Given the description of an element on the screen output the (x, y) to click on. 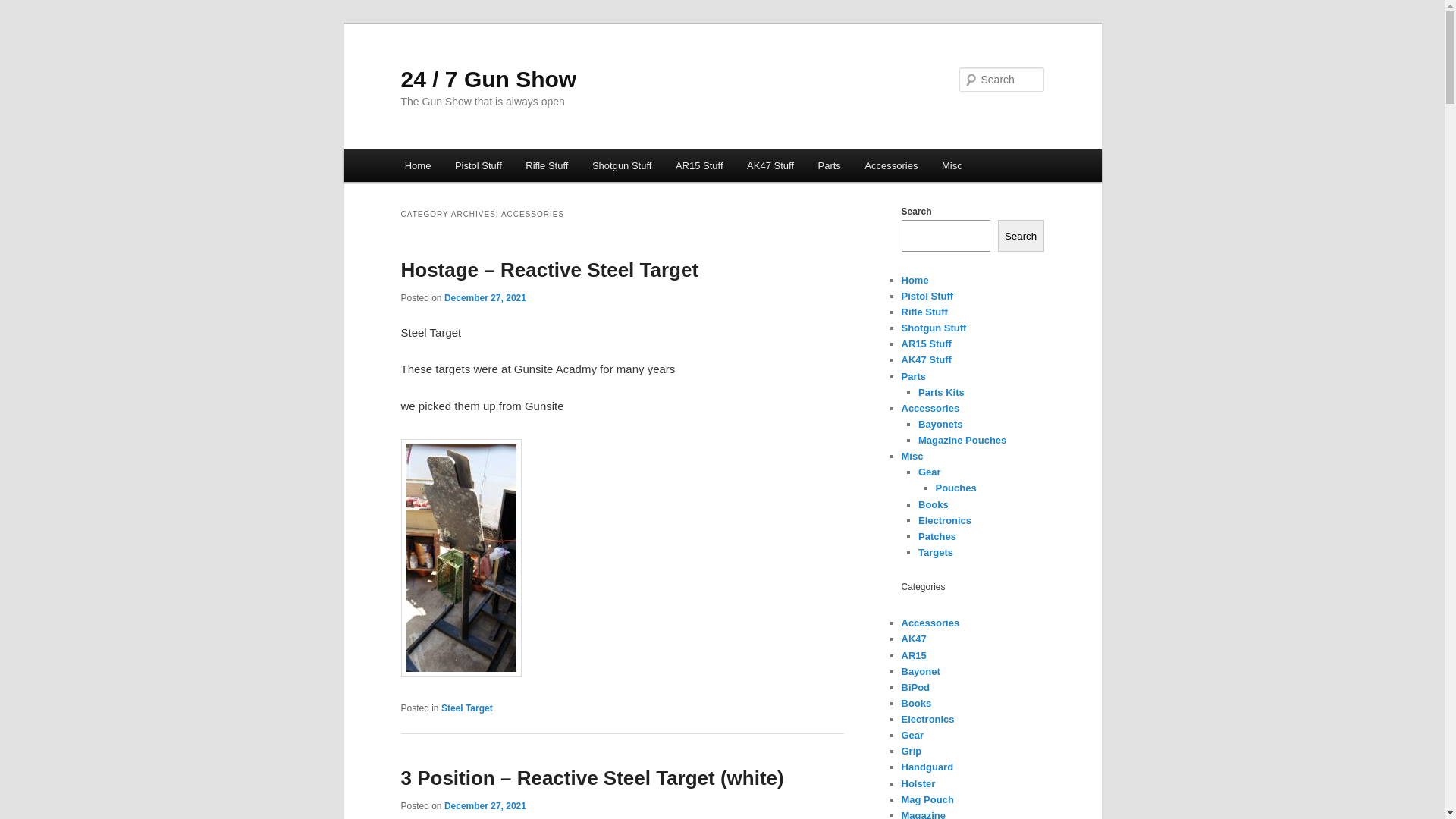
AR15 Stuff Element type: text (925, 343)
Electronics Element type: text (944, 520)
Targets Element type: text (935, 552)
Books Element type: text (933, 504)
Search Element type: text (24, 8)
Pistol Stuff Element type: text (477, 165)
Parts Kits Element type: text (941, 392)
Rifle Stuff Element type: text (547, 165)
Gear Element type: text (911, 734)
December 27, 2021 Element type: text (485, 297)
Misc Element type: text (951, 165)
Misc Element type: text (911, 455)
Home Element type: text (417, 165)
Home Element type: text (914, 279)
Mag Pouch Element type: text (926, 799)
Rifle Stuff Element type: text (923, 311)
Accessories Element type: text (929, 408)
Steel Target Element type: text (466, 707)
Gear Element type: text (929, 471)
Bayonets Element type: text (940, 423)
Holster Element type: text (917, 783)
Magazine Pouches Element type: text (962, 439)
Handguard Element type: text (926, 766)
Electronics Element type: text (926, 718)
Shotgun Stuff Element type: text (621, 165)
AR15 Stuff Element type: text (698, 165)
Patches Element type: text (937, 536)
Pouches Element type: text (955, 487)
BiPod Element type: text (914, 687)
Skip to primary content Element type: text (22, 22)
Shotgun Stuff Element type: text (933, 327)
Parts Element type: text (829, 165)
AR15 Element type: text (912, 655)
Pistol Stuff Element type: text (926, 295)
Grip Element type: text (910, 750)
24 / 7 Gun Show Element type: text (488, 78)
AK47 Stuff Element type: text (925, 359)
Books Element type: text (915, 703)
Search Element type: text (1020, 235)
AK47 Element type: text (912, 638)
Parts Element type: text (912, 375)
Accessories Element type: text (929, 622)
Bayonet Element type: text (919, 671)
AK47 Stuff Element type: text (769, 165)
December 27, 2021 Element type: text (485, 805)
Accessories Element type: text (891, 165)
